Given the description of an element on the screen output the (x, y) to click on. 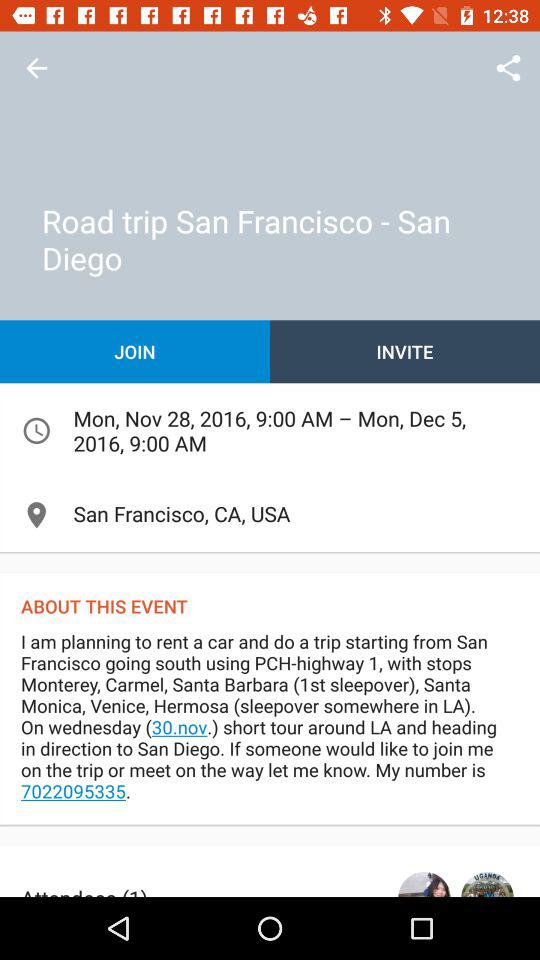
click invite (405, 351)
